Given the description of an element on the screen output the (x, y) to click on. 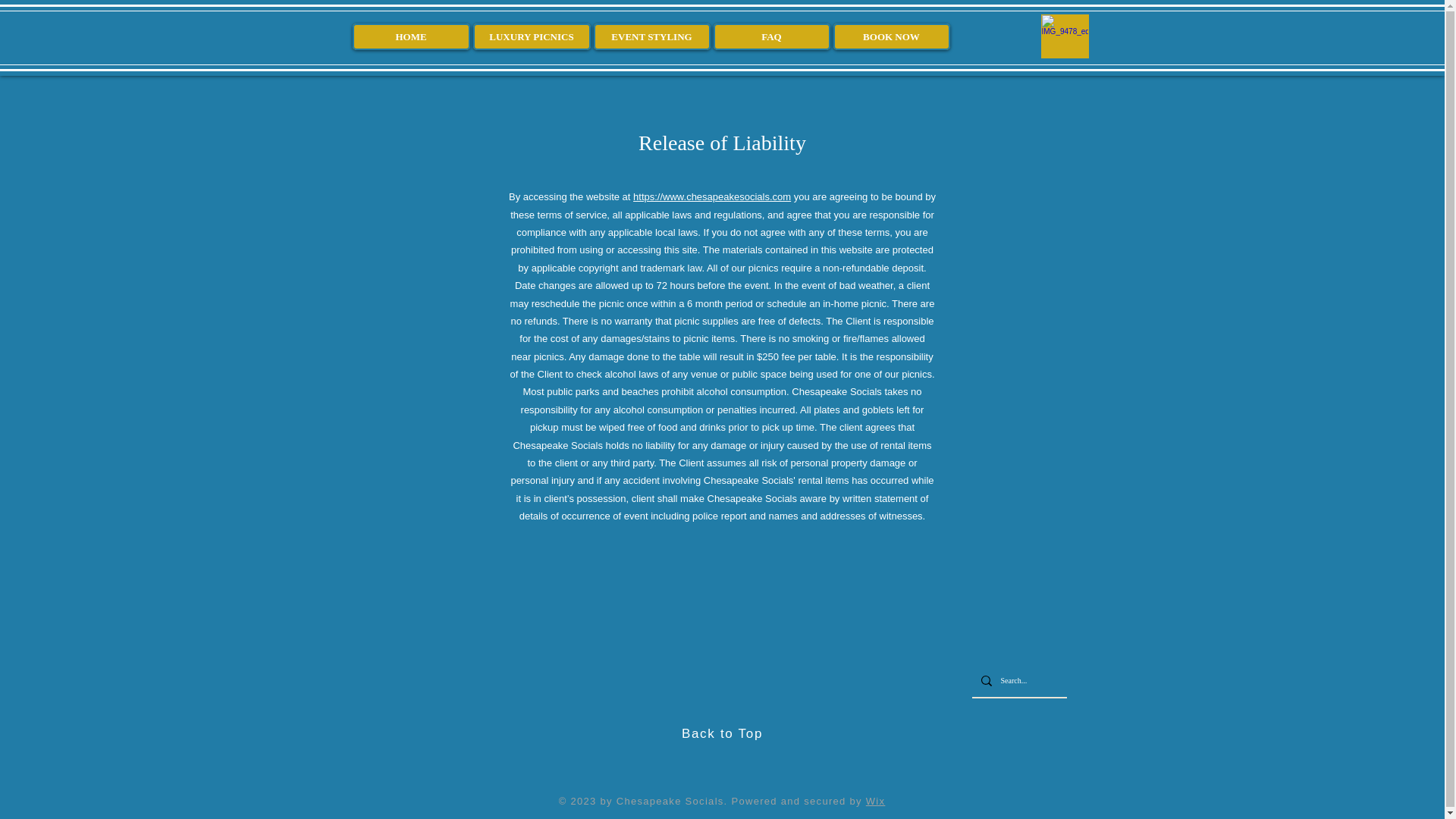
Wix (875, 800)
EVENT STYLING (651, 36)
HOME (410, 36)
FAQ (771, 36)
Back to Top (721, 733)
BOOK NOW (890, 36)
LUXURY PICNICS (532, 36)
